Given the description of an element on the screen output the (x, y) to click on. 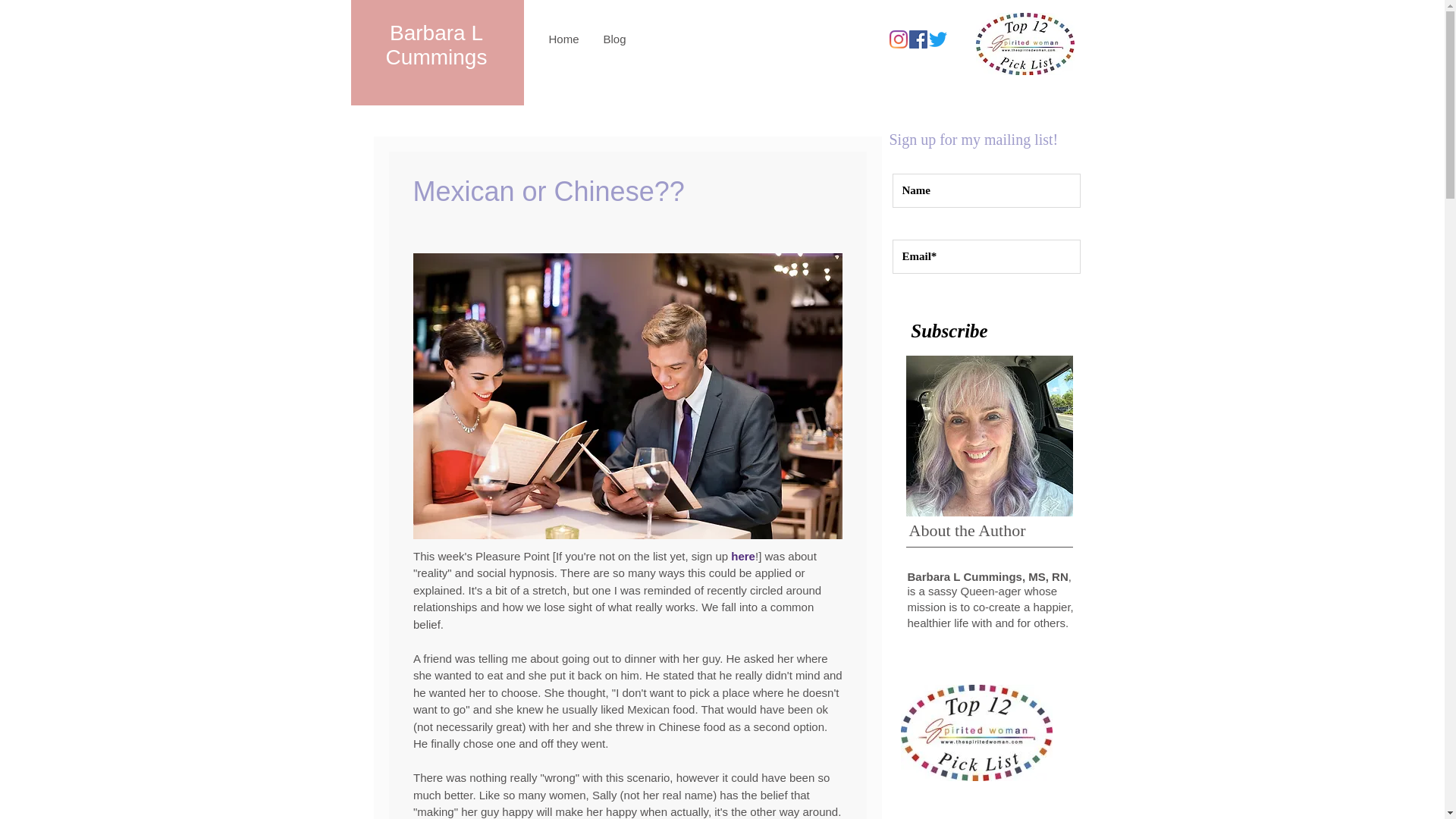
Blog (614, 38)
Subscribe (949, 330)
Home (564, 38)
here (742, 555)
Barbara L Cummings (436, 44)
